Given the description of an element on the screen output the (x, y) to click on. 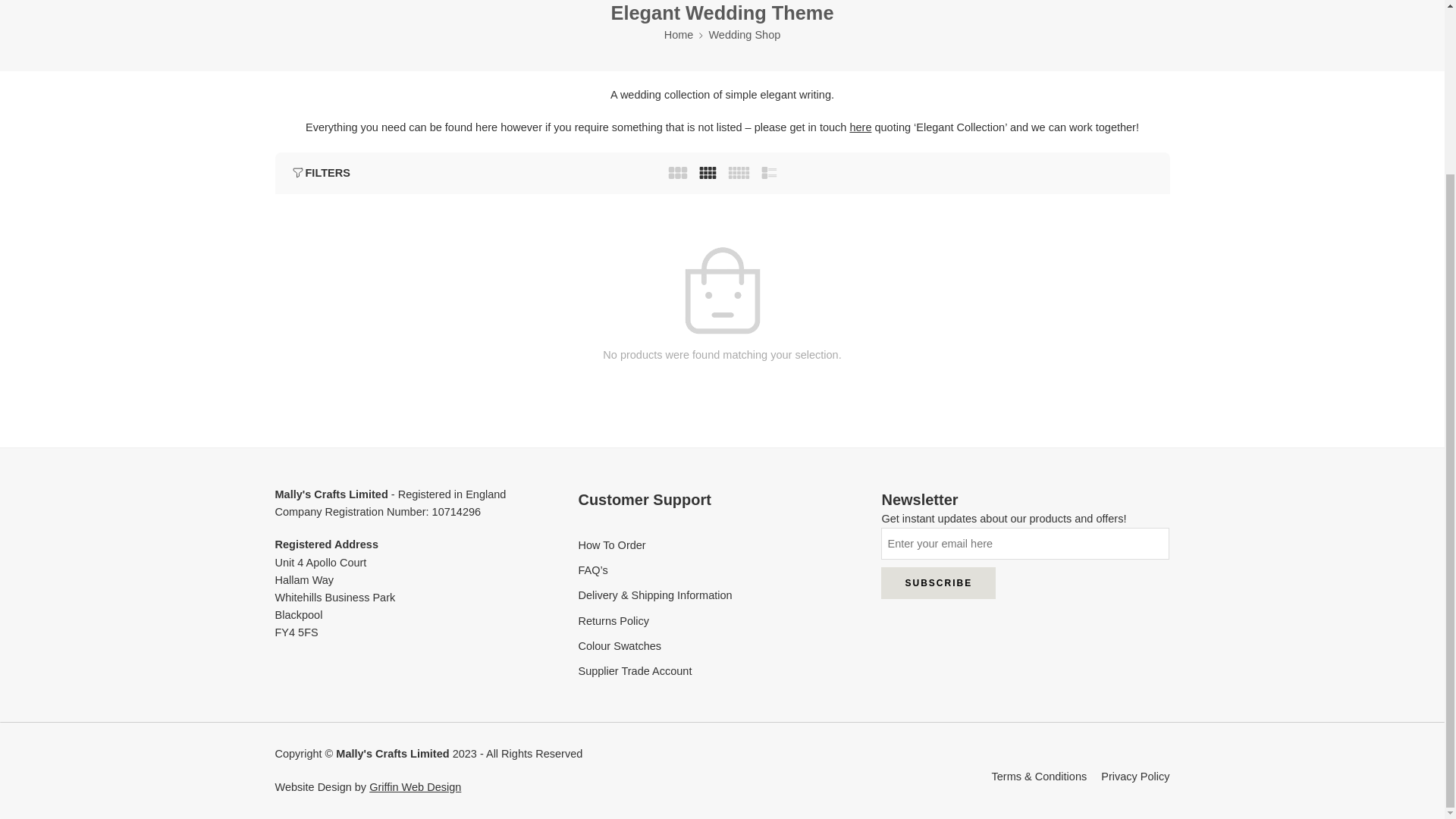
Wedding Shop (743, 35)
here (859, 127)
FILTERS (429, 173)
Home (678, 35)
SUBSCRIBE (937, 582)
